Given the description of an element on the screen output the (x, y) to click on. 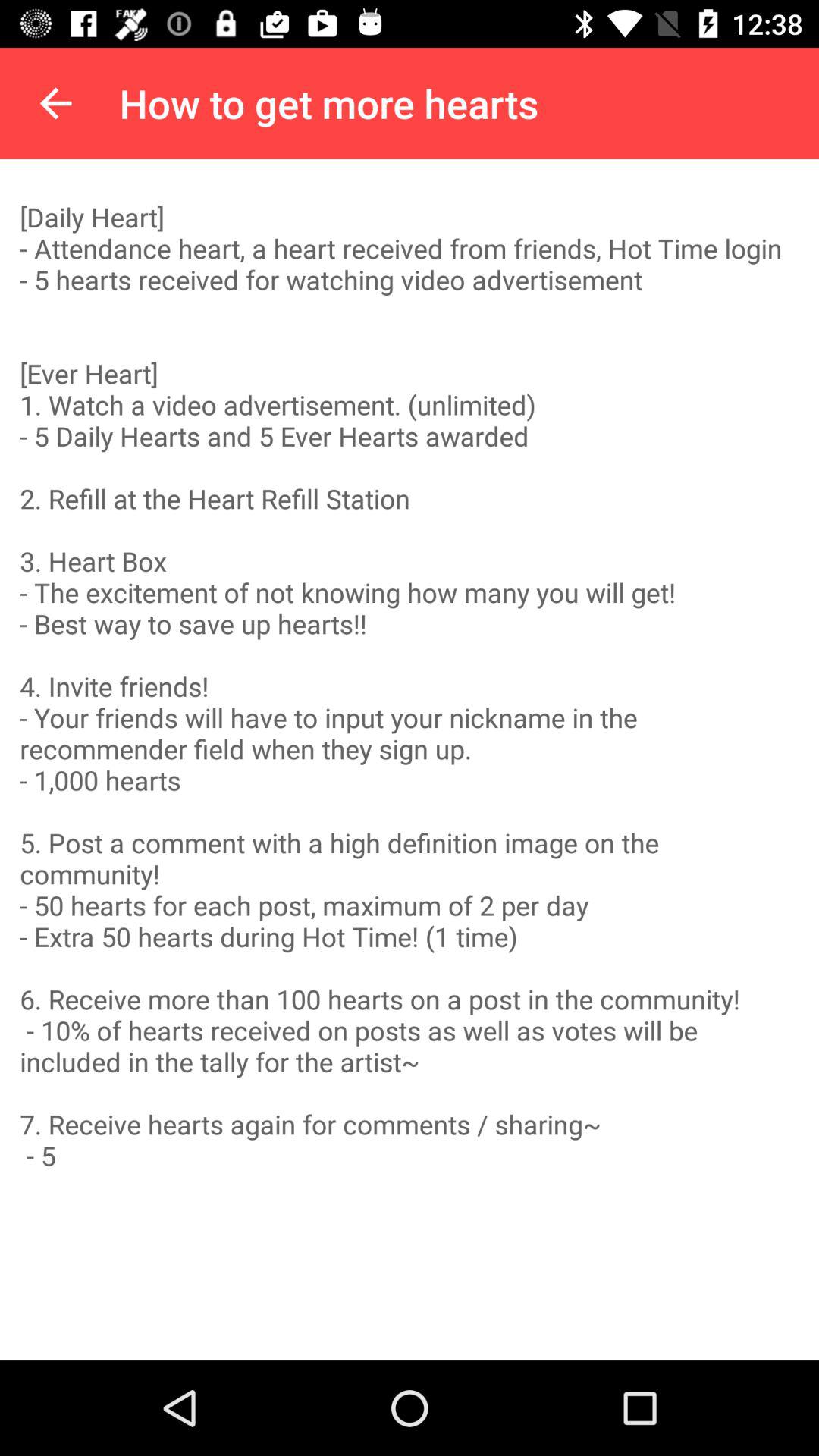
turn on the item above daily heart  item (55, 103)
